Given the description of an element on the screen output the (x, y) to click on. 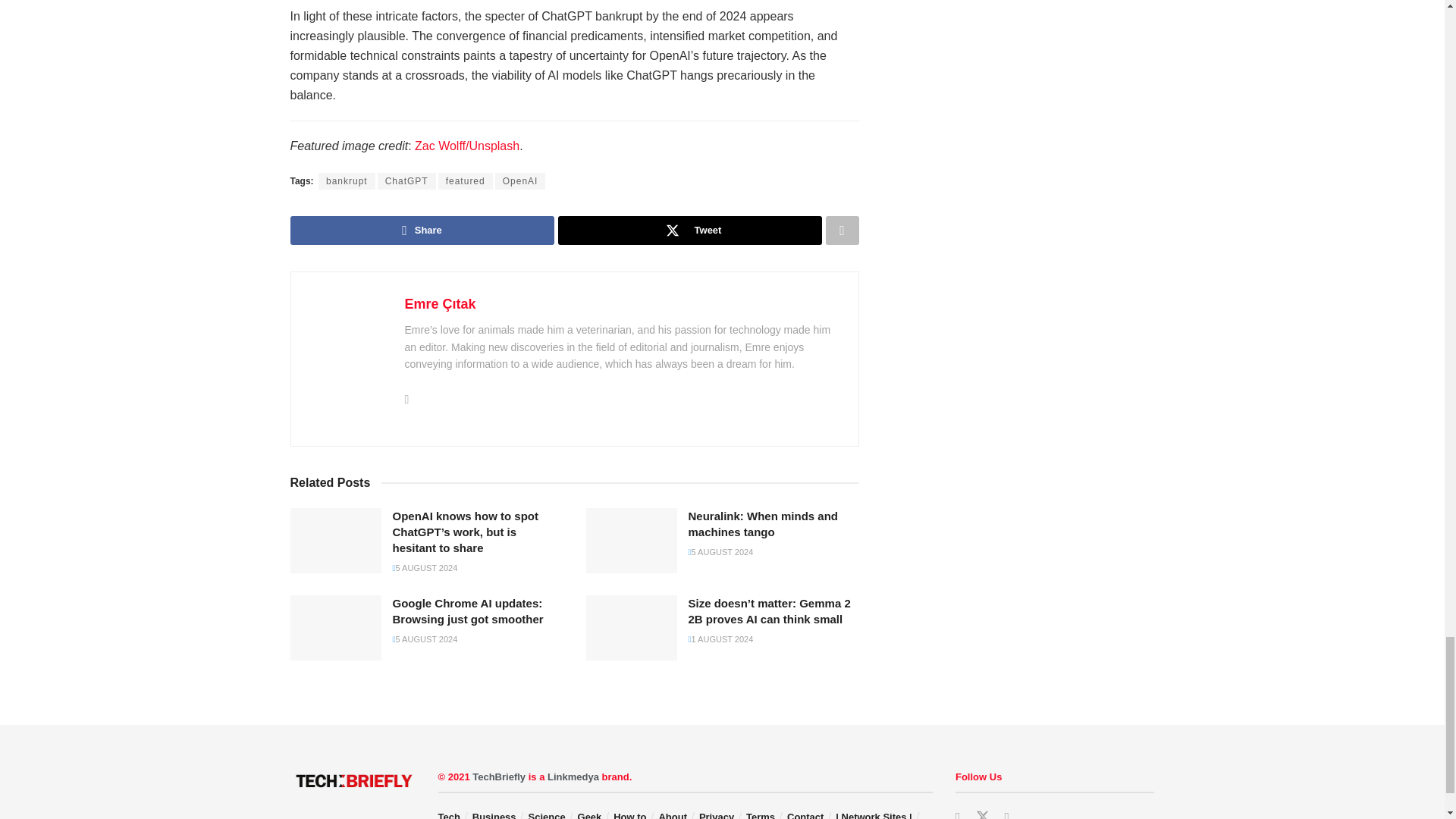
TechBriefly (498, 776)
Neuralink: When minds and machines tango (631, 540)
Google Chrome AI updates: Browsing just got smoother (334, 627)
Linkmedya (572, 776)
